Given the description of an element on the screen output the (x, y) to click on. 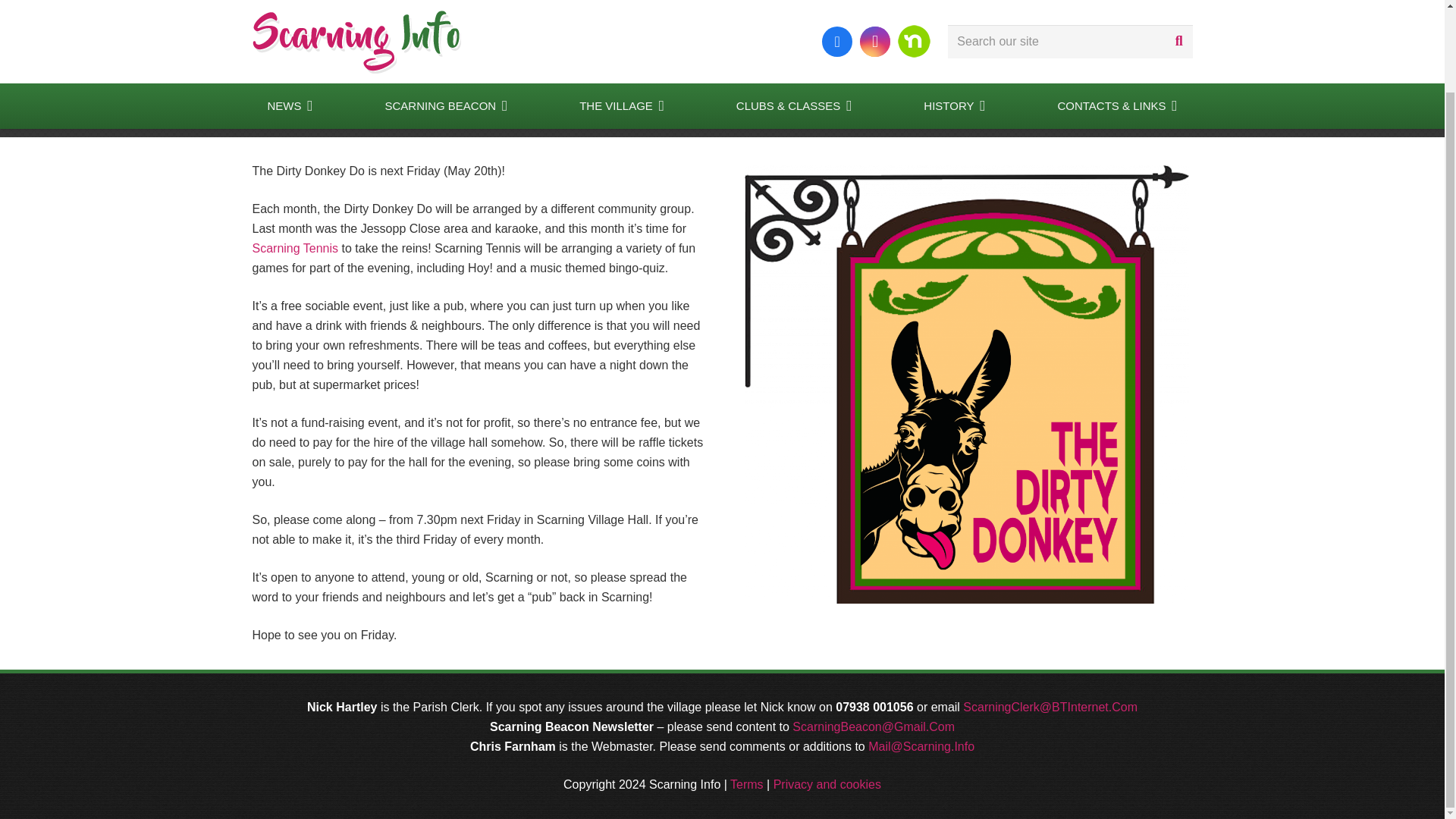
THE VILLAGE (621, 18)
SCARNING BEACON (445, 18)
NEWS (289, 18)
